Given the description of an element on the screen output the (x, y) to click on. 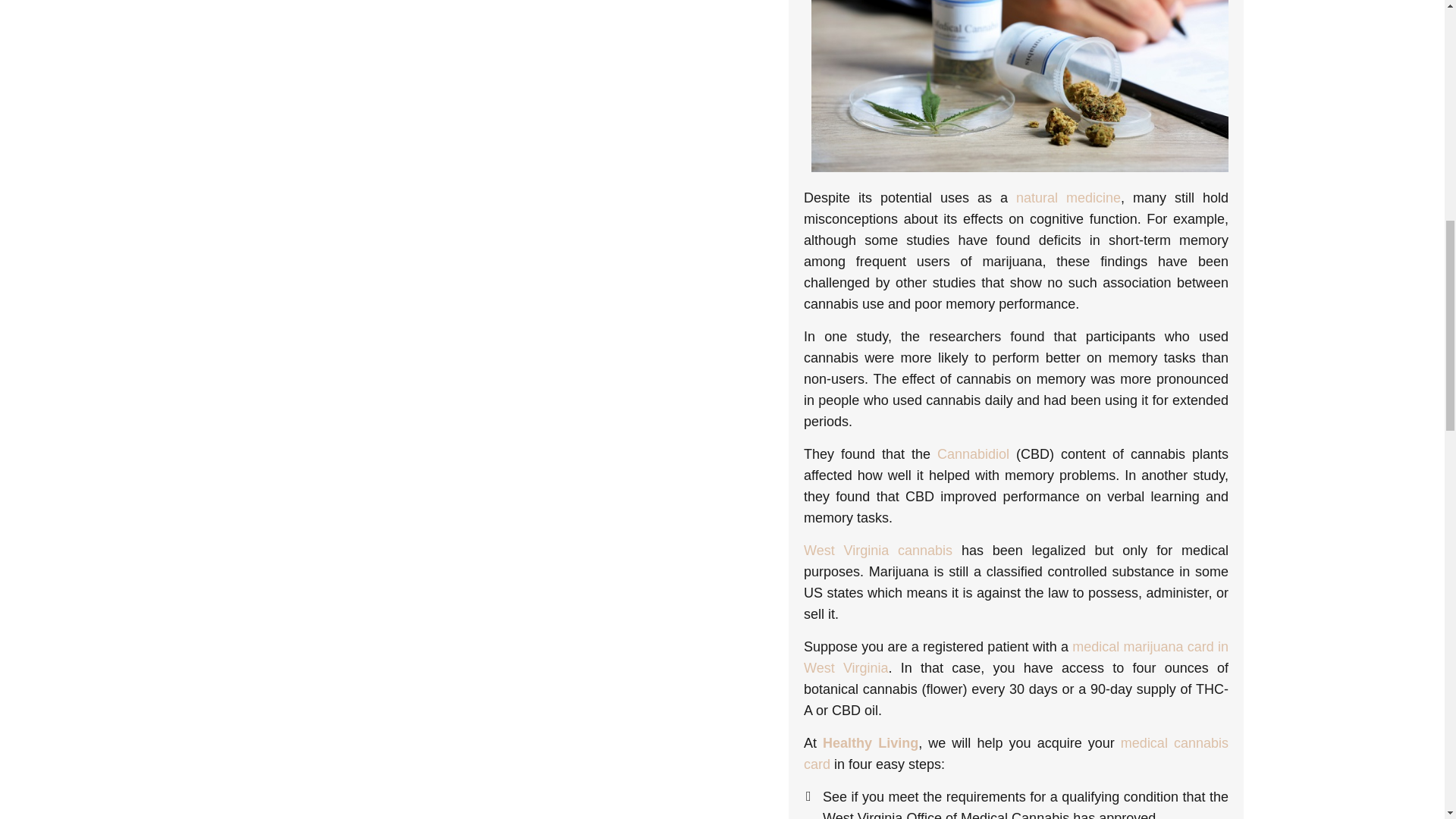
medical cannabis card (1015, 753)
West Virginia cannabis (877, 549)
natural medicine (1068, 197)
medical marijuana card in West Virginia (1015, 657)
Cannabidiol (973, 453)
